Given the description of an element on the screen output the (x, y) to click on. 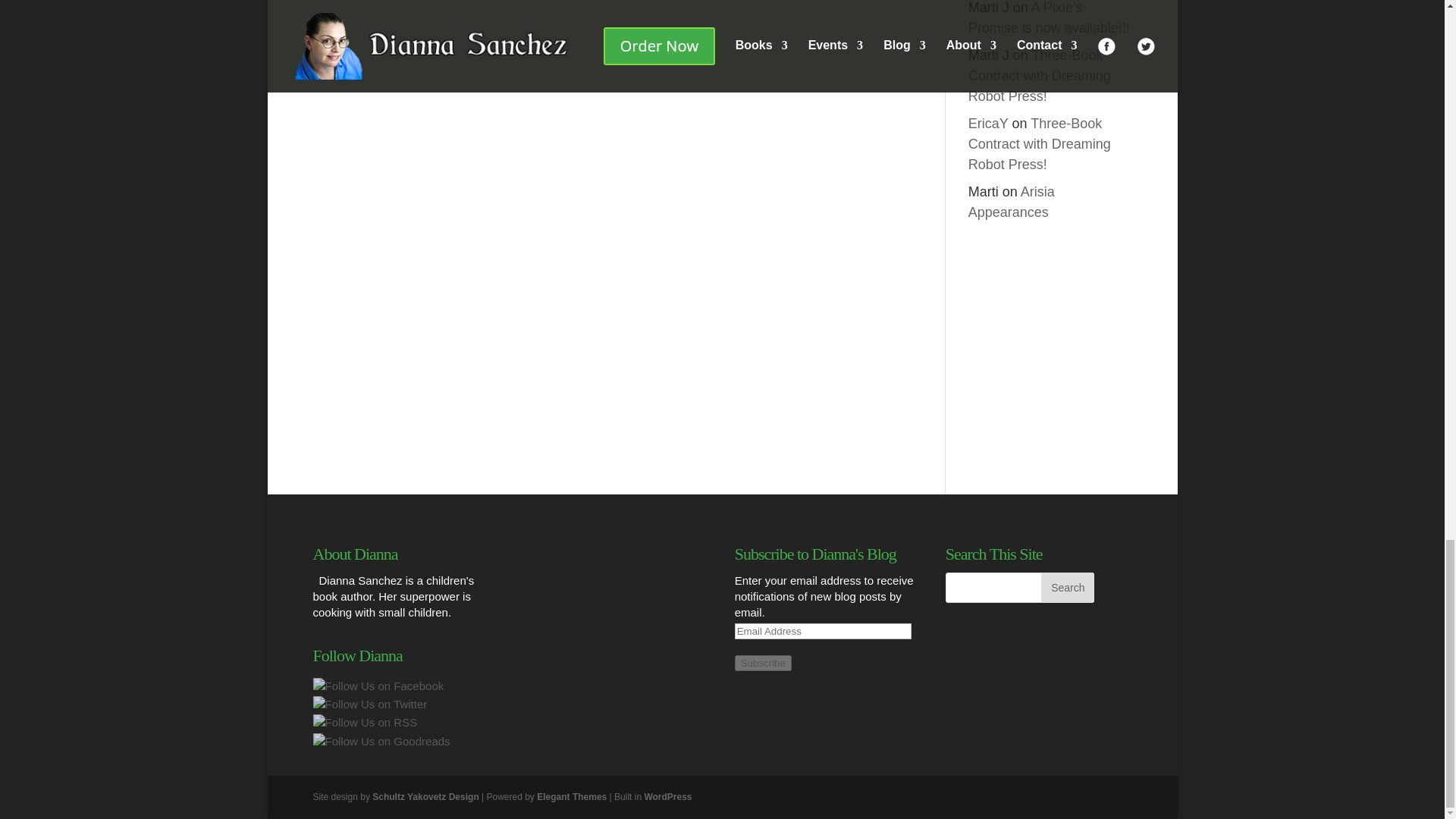
Premium WordPress Themes (572, 796)
Follow Us on RSS (364, 722)
Search (1067, 587)
Follow Us on Goodreads (381, 740)
Follow Us on Facebook (378, 685)
Follow Us on Twitter (369, 703)
